Given the description of an element on the screen output the (x, y) to click on. 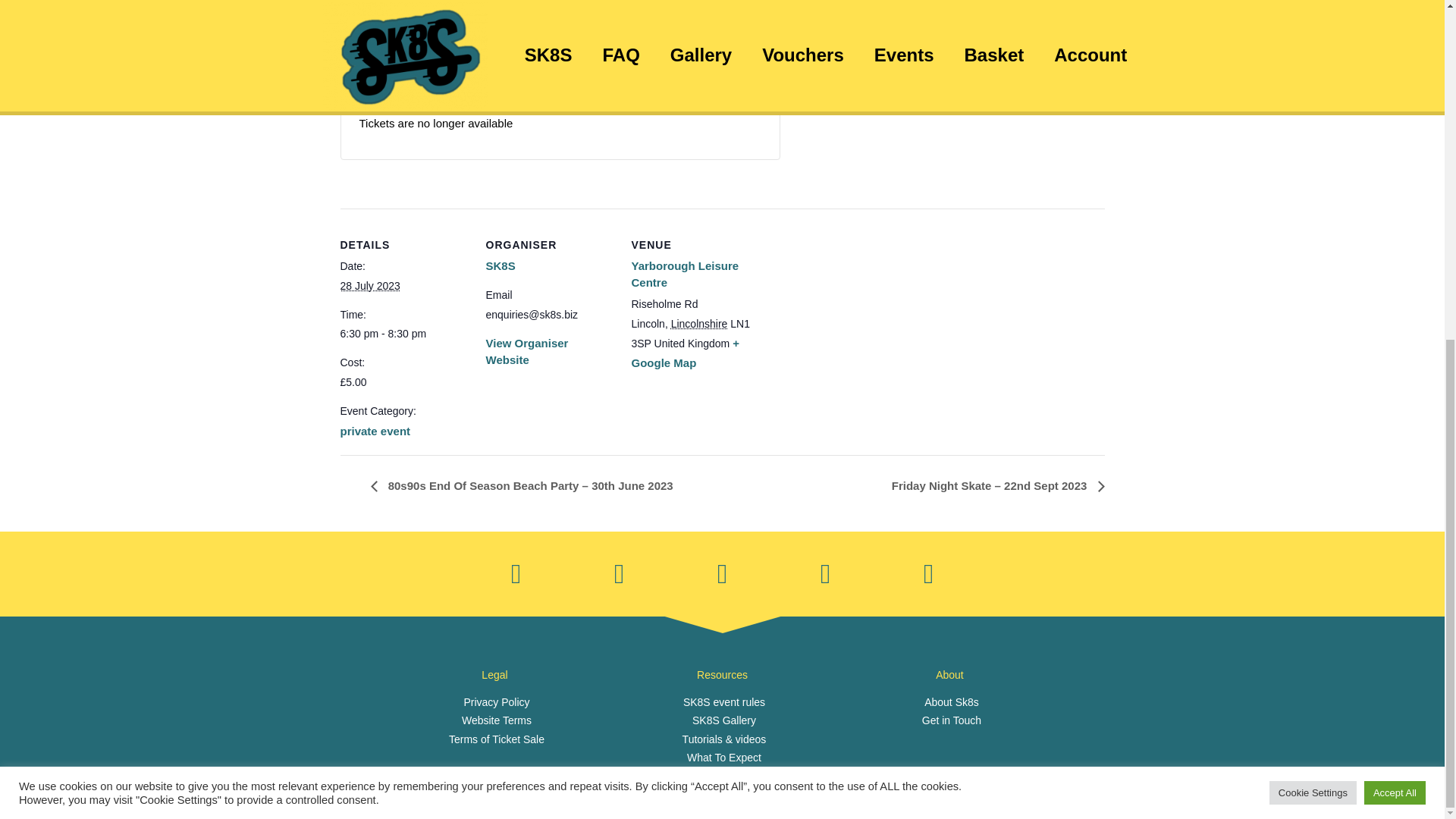
2023-07-28 (403, 333)
SK8S (499, 265)
private event (374, 431)
Click to view a Google Map (684, 352)
Add to calendar (418, 17)
2023-07-28 (368, 285)
Lincolnshire (699, 323)
